Given the description of an element on the screen output the (x, y) to click on. 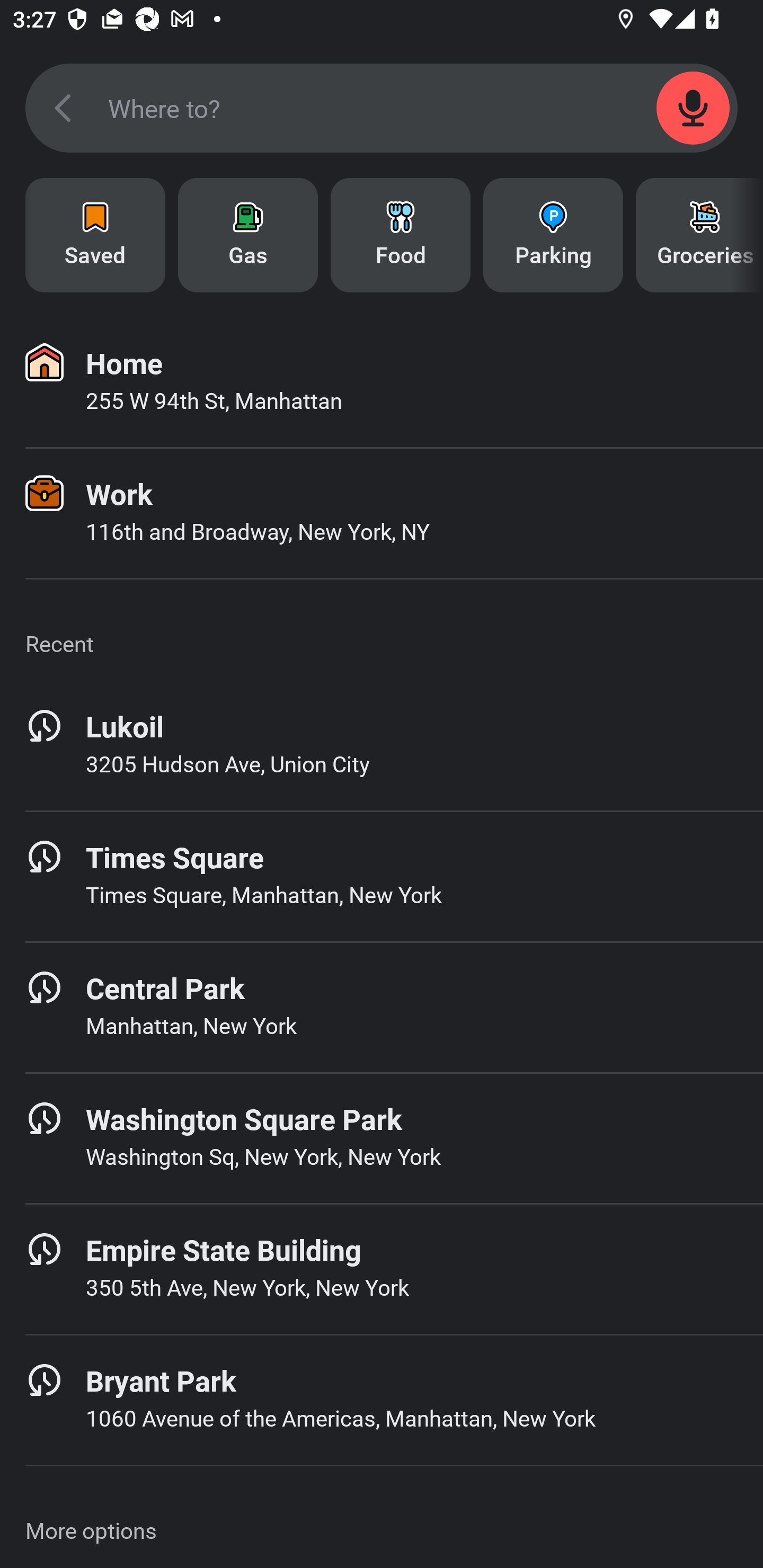
SEARCH_SCREEN_SEARCH_FIELD Where to? (381, 108)
Saved (95, 234)
Gas (247, 234)
Food (400, 234)
Parking (552, 234)
Groceries (699, 234)
Home 255 W 94th St, Manhattan (381, 382)
Work 116th and Broadway, New York, NY (381, 513)
Lukoil 3205 Hudson Ave, Union City (381, 745)
Times Square Times Square, Manhattan, New York (381, 876)
Central Park Manhattan, New York (381, 1007)
